Given the description of an element on the screen output the (x, y) to click on. 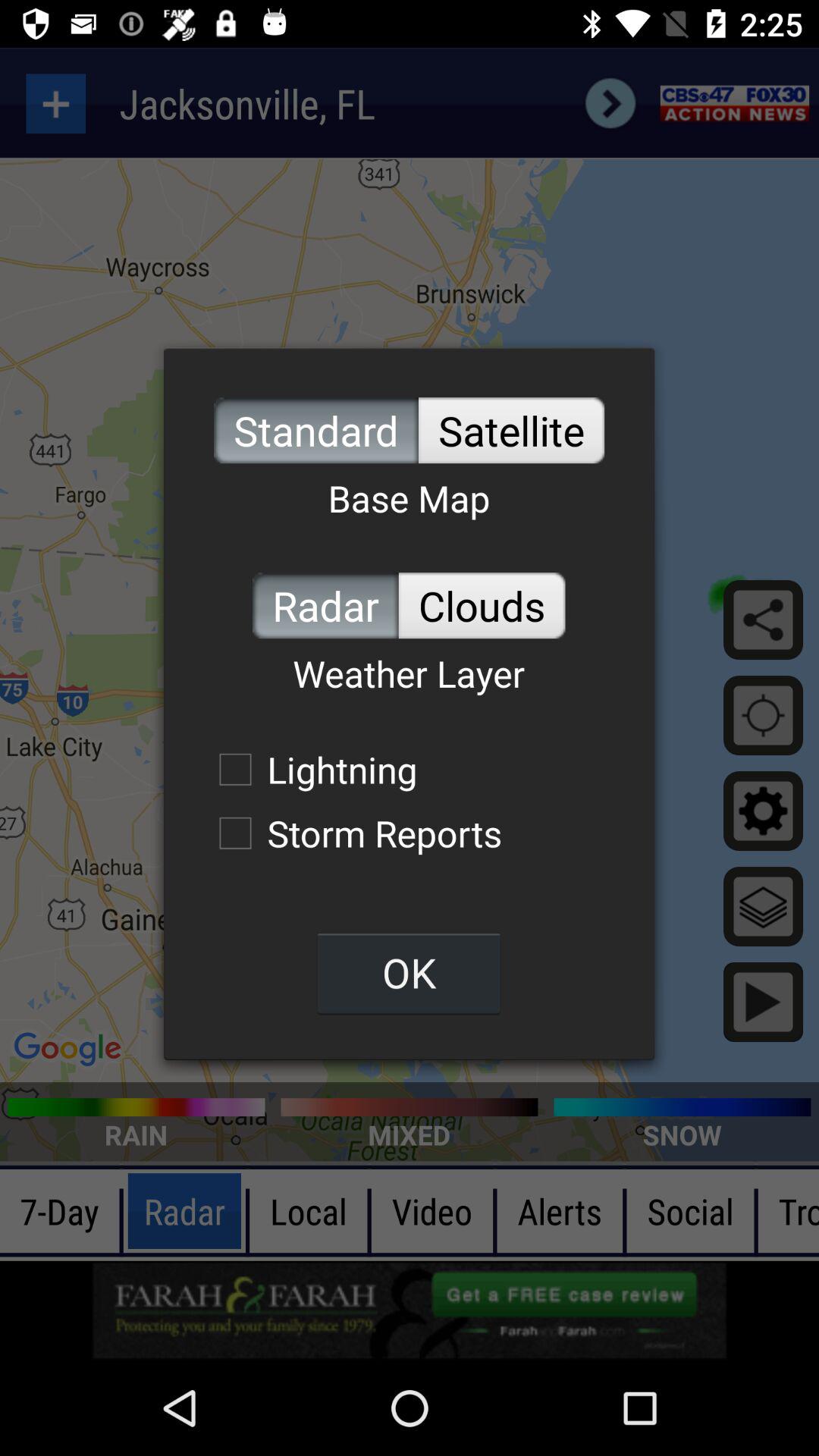
select storm reports (352, 833)
